Given the description of an element on the screen output the (x, y) to click on. 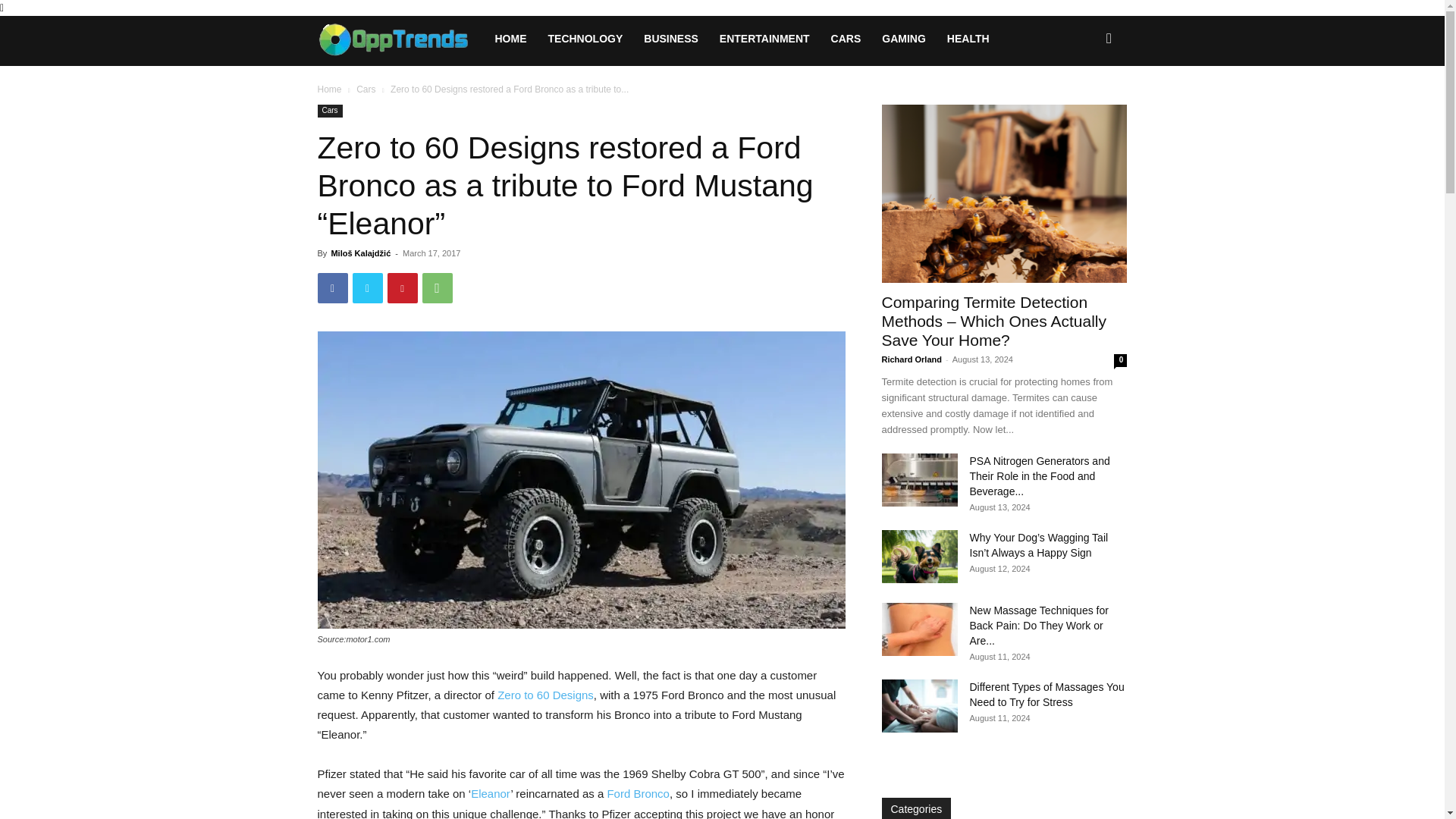
WhatsApp (436, 287)
Search (1085, 103)
Eleanor (490, 793)
Facebook (332, 287)
Cars (365, 89)
Cars (329, 110)
ENTERTAINMENT (765, 38)
TECHNOLOGY (585, 38)
HEALTH (968, 38)
